Given the description of an element on the screen output the (x, y) to click on. 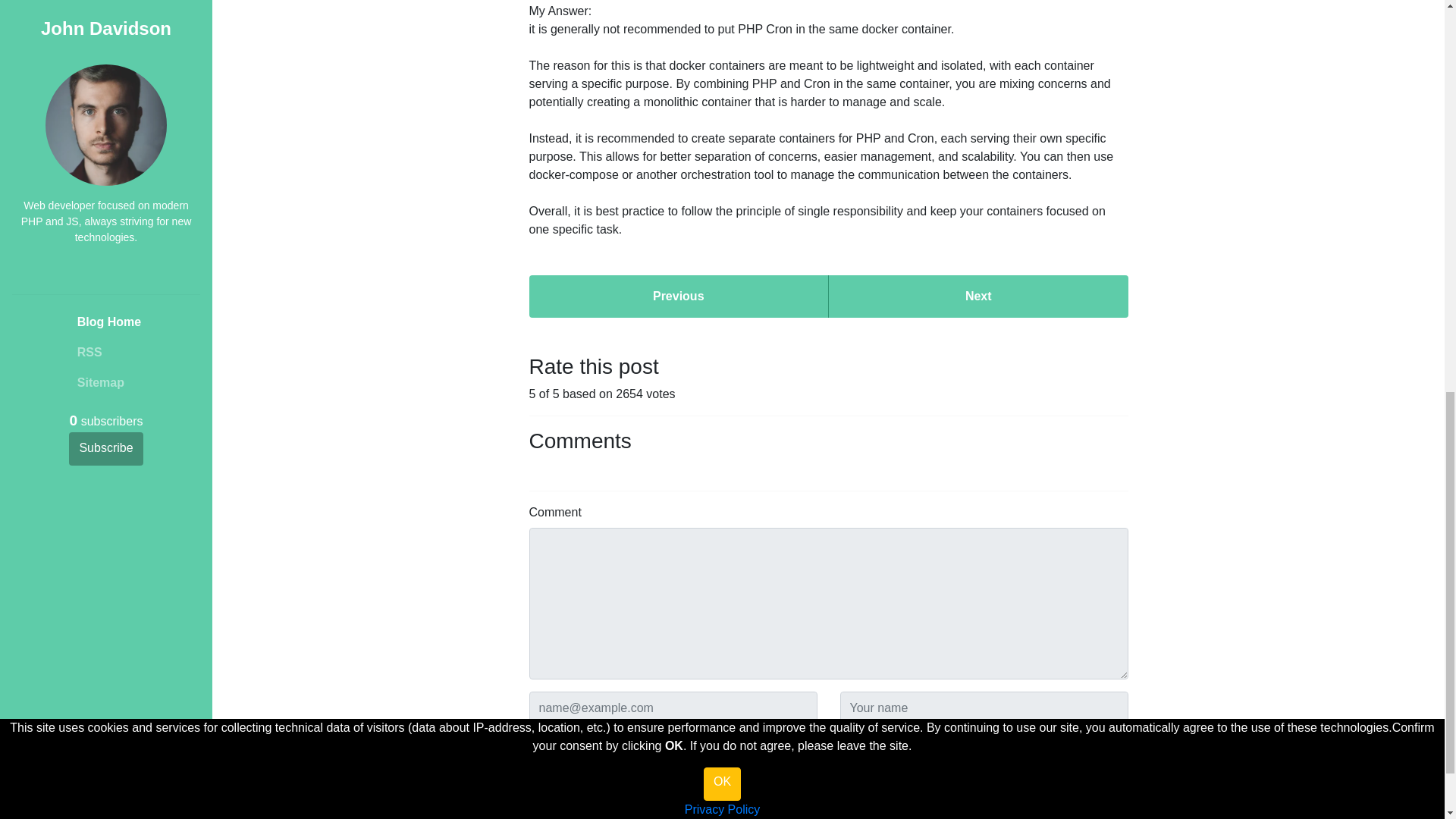
Previous (679, 296)
Post (551, 759)
Next (978, 296)
